Given the description of an element on the screen output the (x, y) to click on. 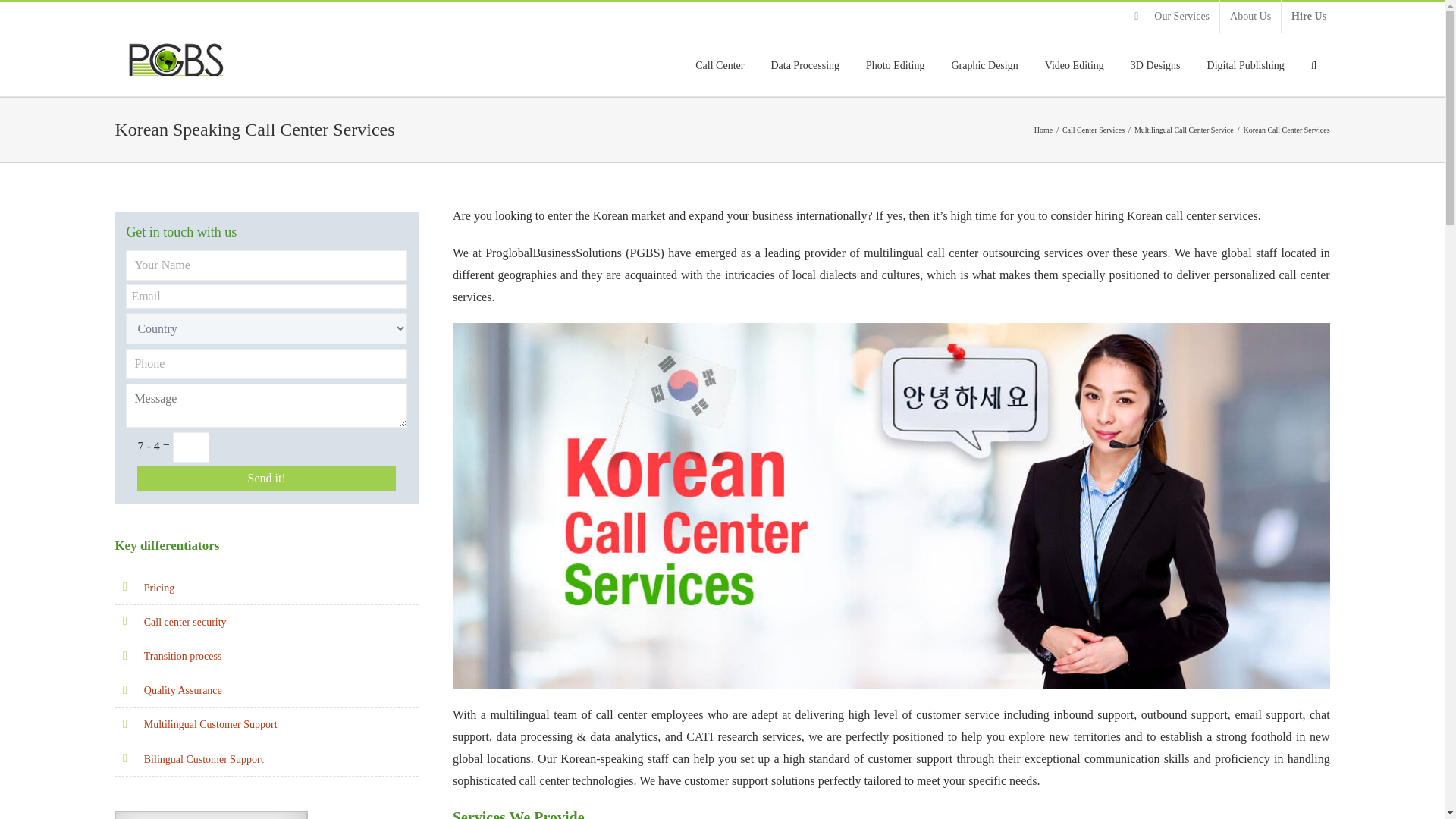
Send it! (266, 478)
Our Services (1172, 16)
About Us (1250, 16)
Data Processing (805, 64)
Hire Us (1308, 16)
Photo Editing (895, 64)
